Given the description of an element on the screen output the (x, y) to click on. 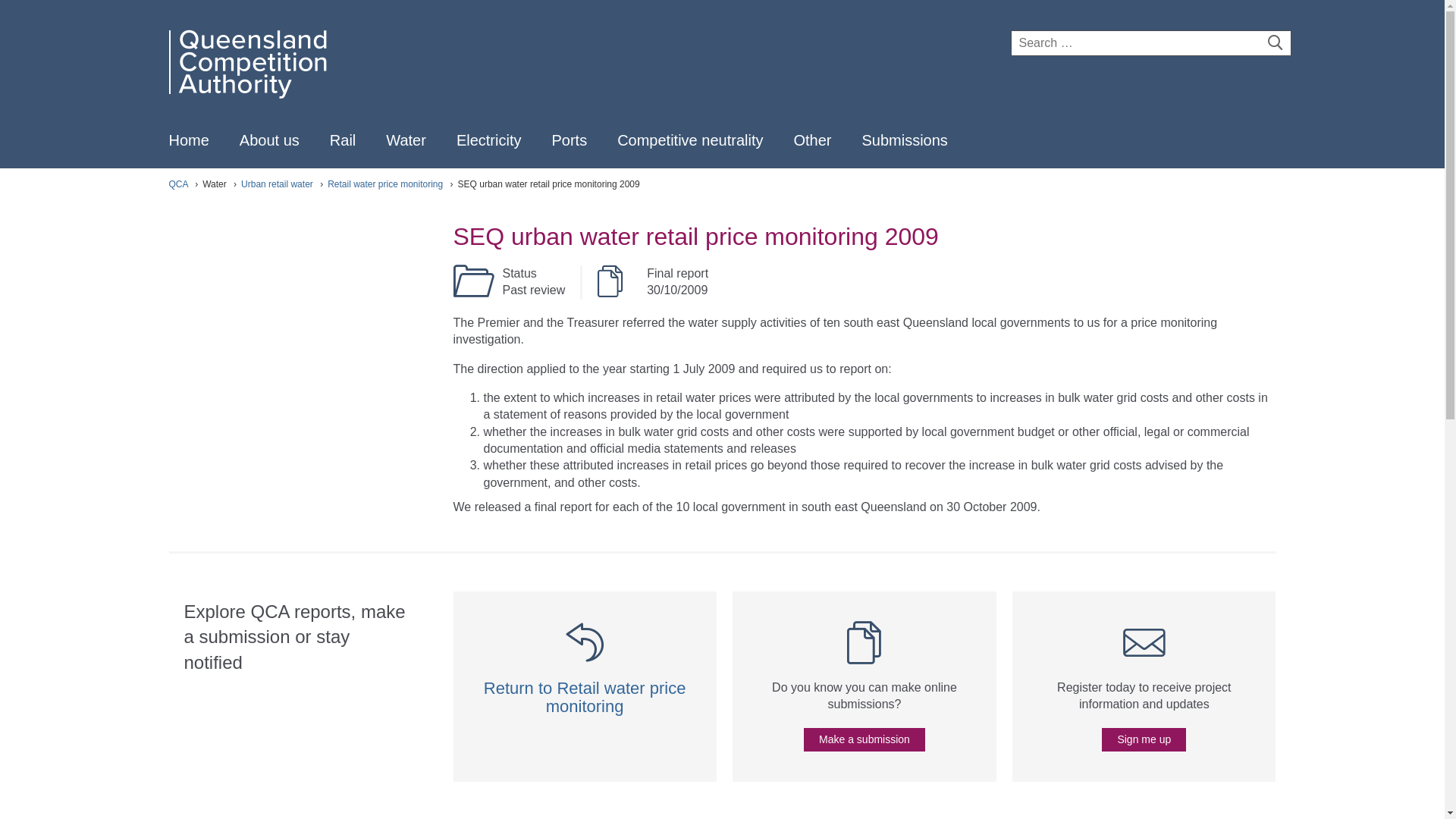
Water (405, 140)
Search (1274, 42)
About us (269, 140)
QCA (247, 62)
Home (188, 140)
Rail (342, 140)
